Given the description of an element on the screen output the (x, y) to click on. 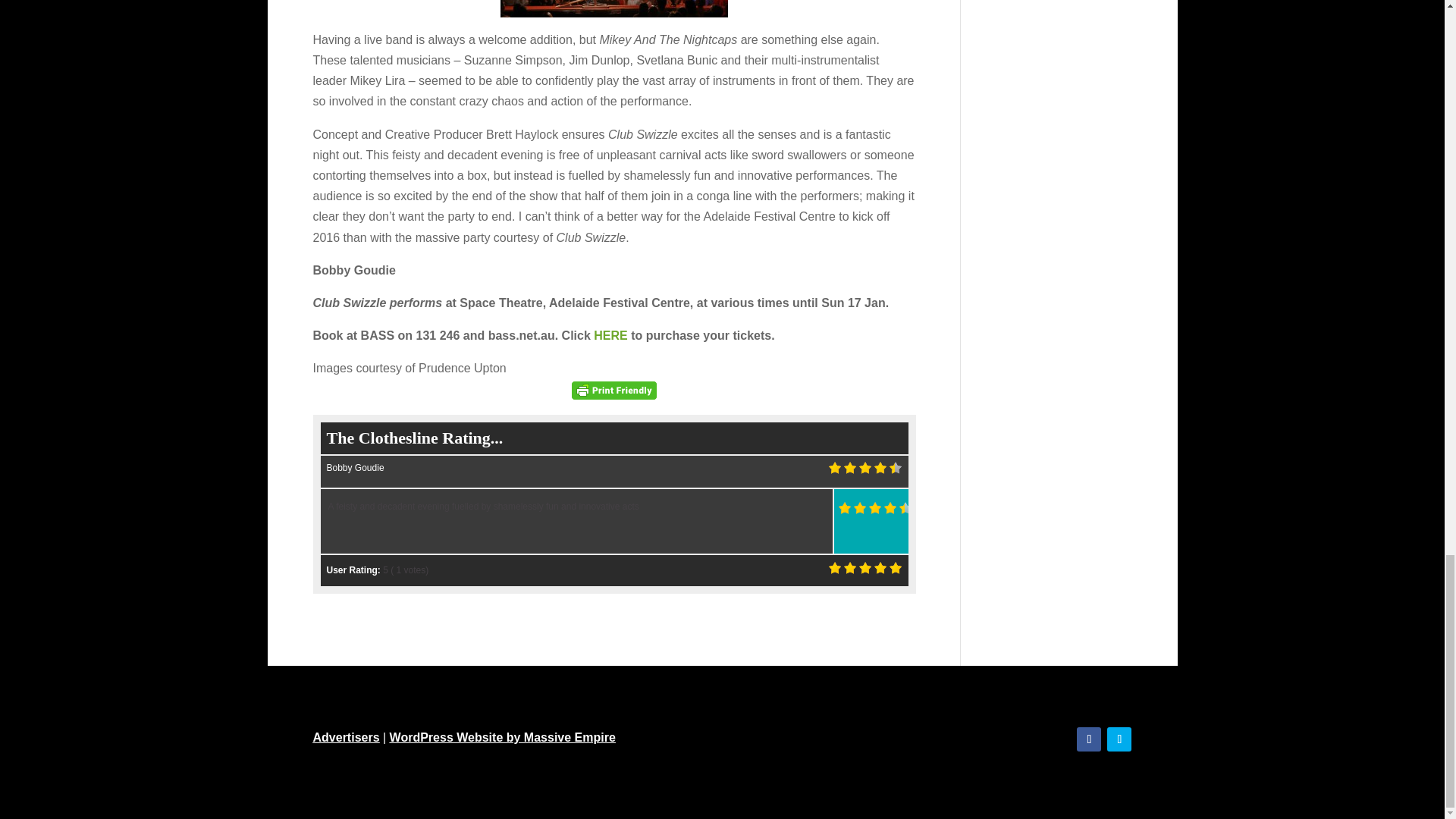
Follow on Twitter (1118, 739)
HERE (610, 335)
Follow on Facebook (1088, 739)
